Given the description of an element on the screen output the (x, y) to click on. 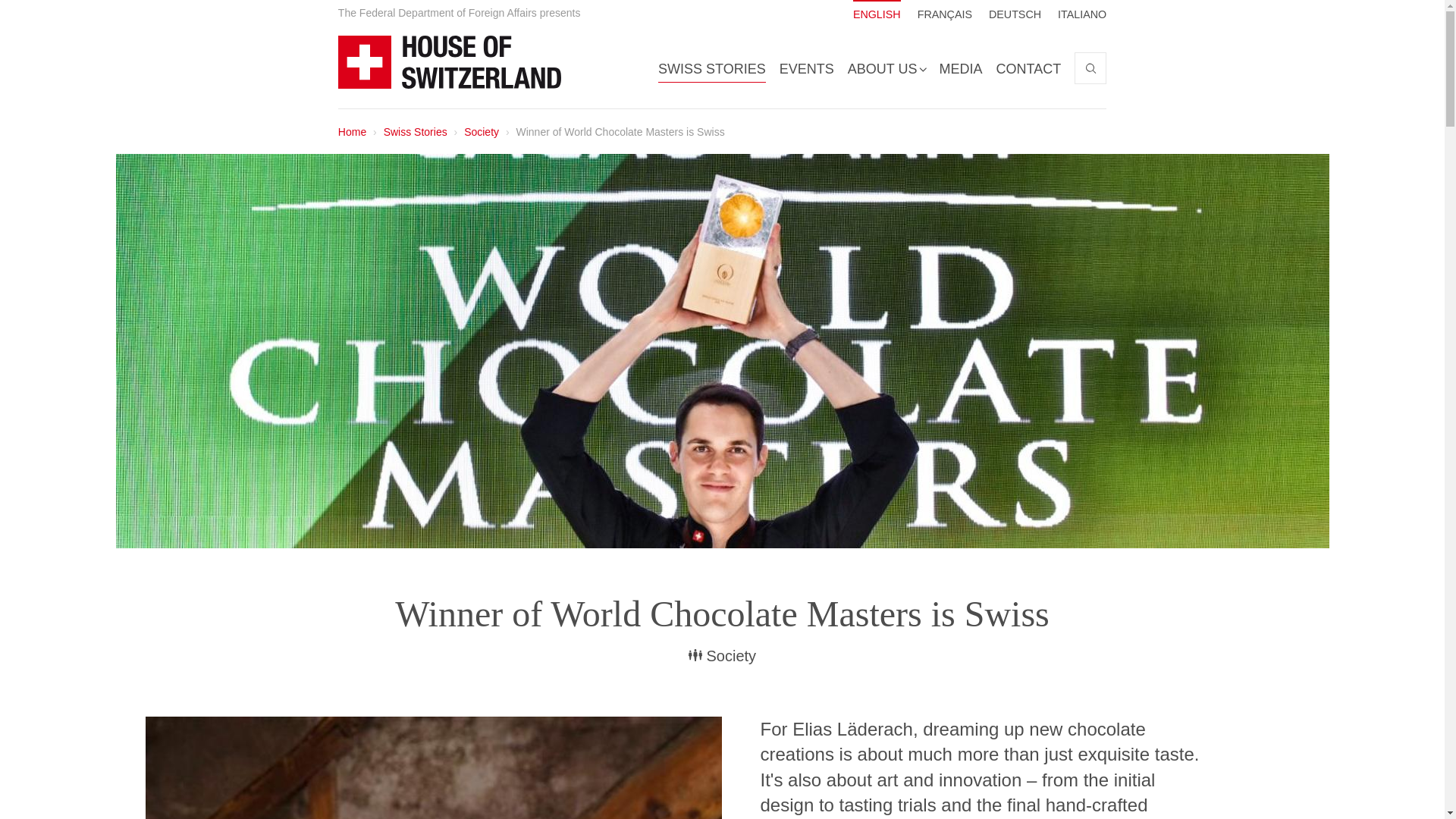
Swiss Stories (415, 132)
Society (481, 132)
Enter the terms you wish to search for. (1090, 68)
DEUTSCH (1014, 11)
ABOUT US (886, 66)
EVENTS (806, 66)
ITALIANO (1082, 11)
Home (351, 132)
MEDIA (960, 66)
CONTACT (877, 11)
SWISS STORIES (1028, 66)
